Given the description of an element on the screen output the (x, y) to click on. 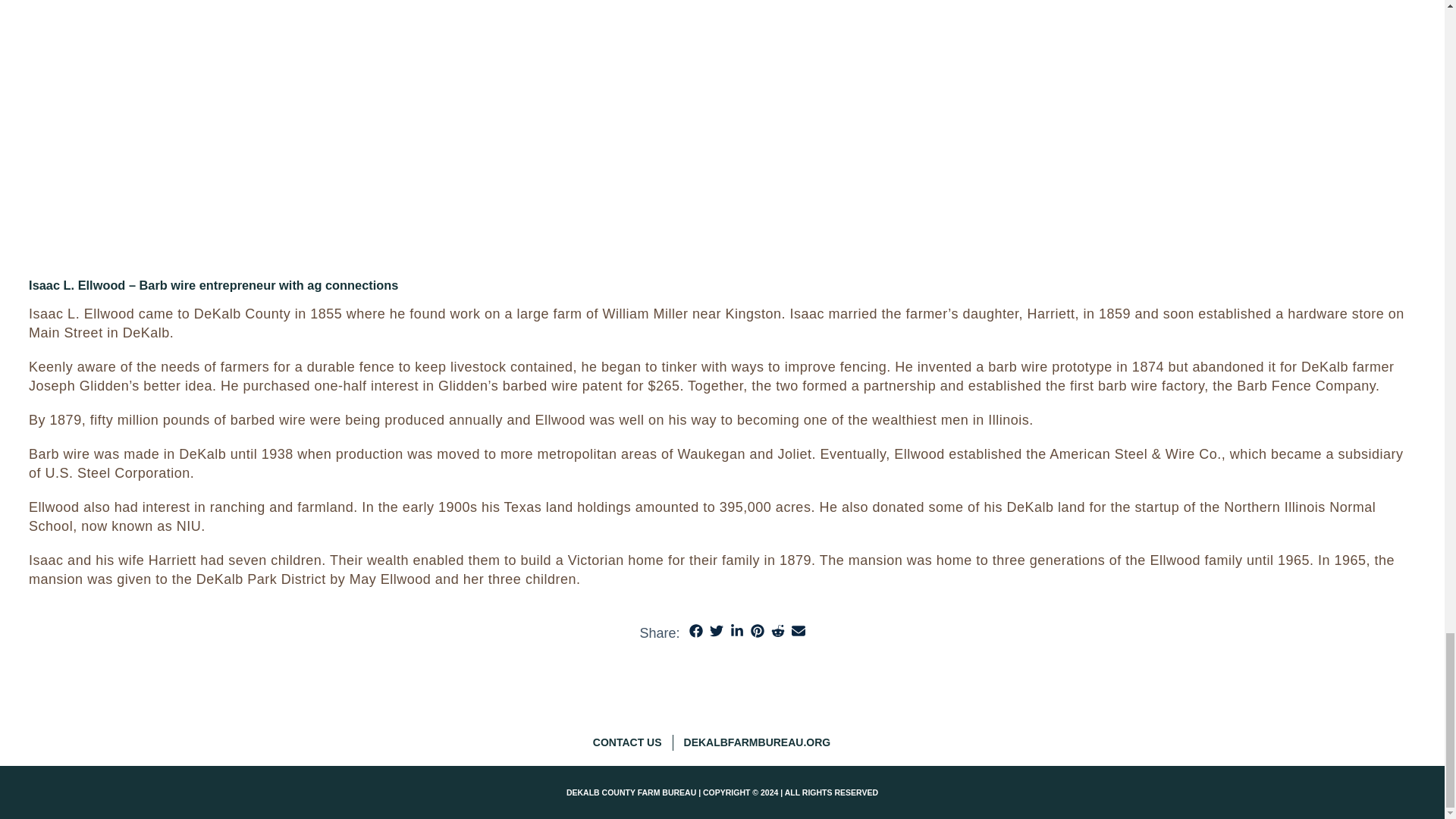
DEKALBFARMBUREAU.ORG (762, 742)
CONTACT US (632, 742)
